Given the description of an element on the screen output the (x, y) to click on. 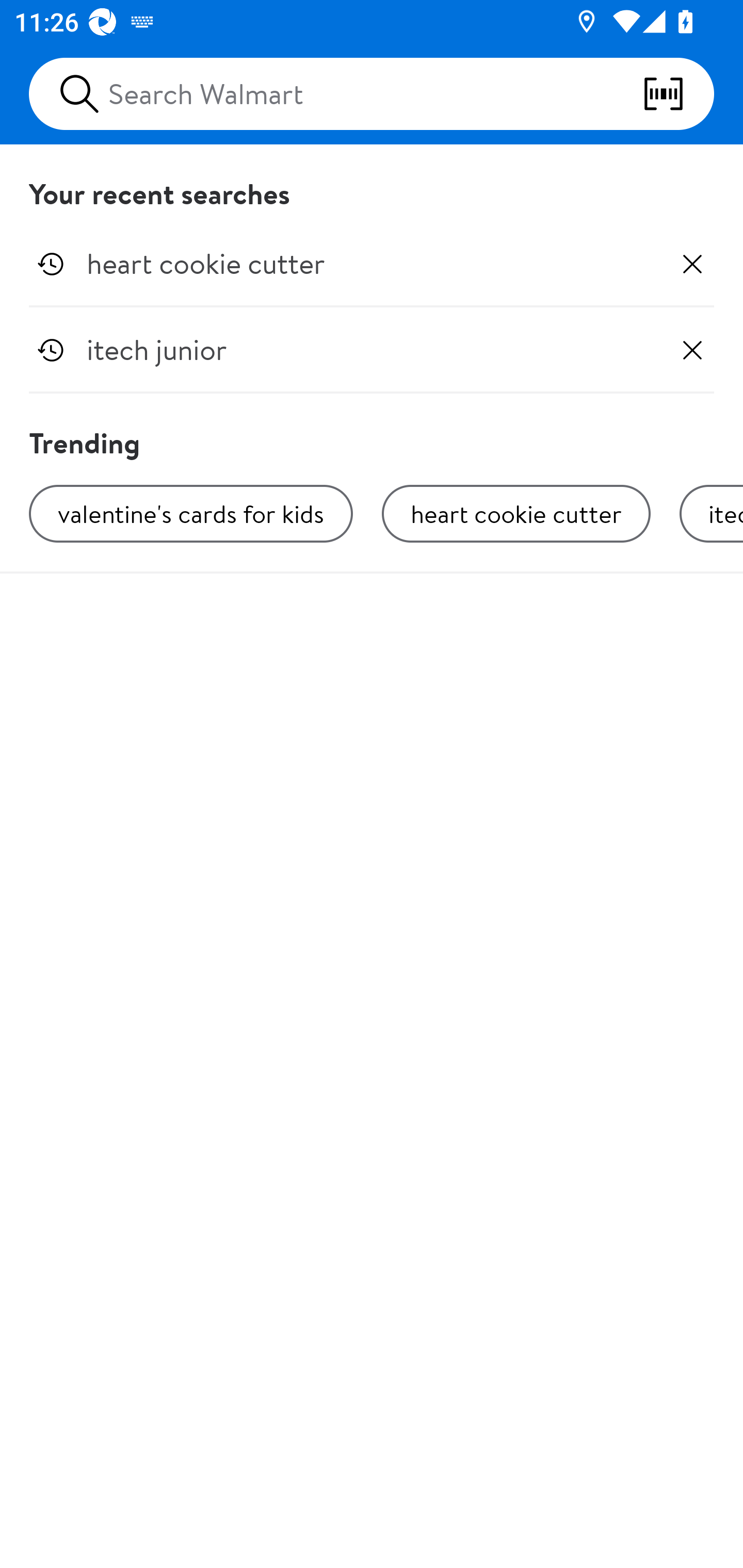
Search Walmart scan barcodes qr codes and more (371, 94)
scan barcodes qr codes and more (677, 94)
Remove recent search for heart cookie cutter (692, 264)
Remove recent search for itech junior (692, 350)
